Given the description of an element on the screen output the (x, y) to click on. 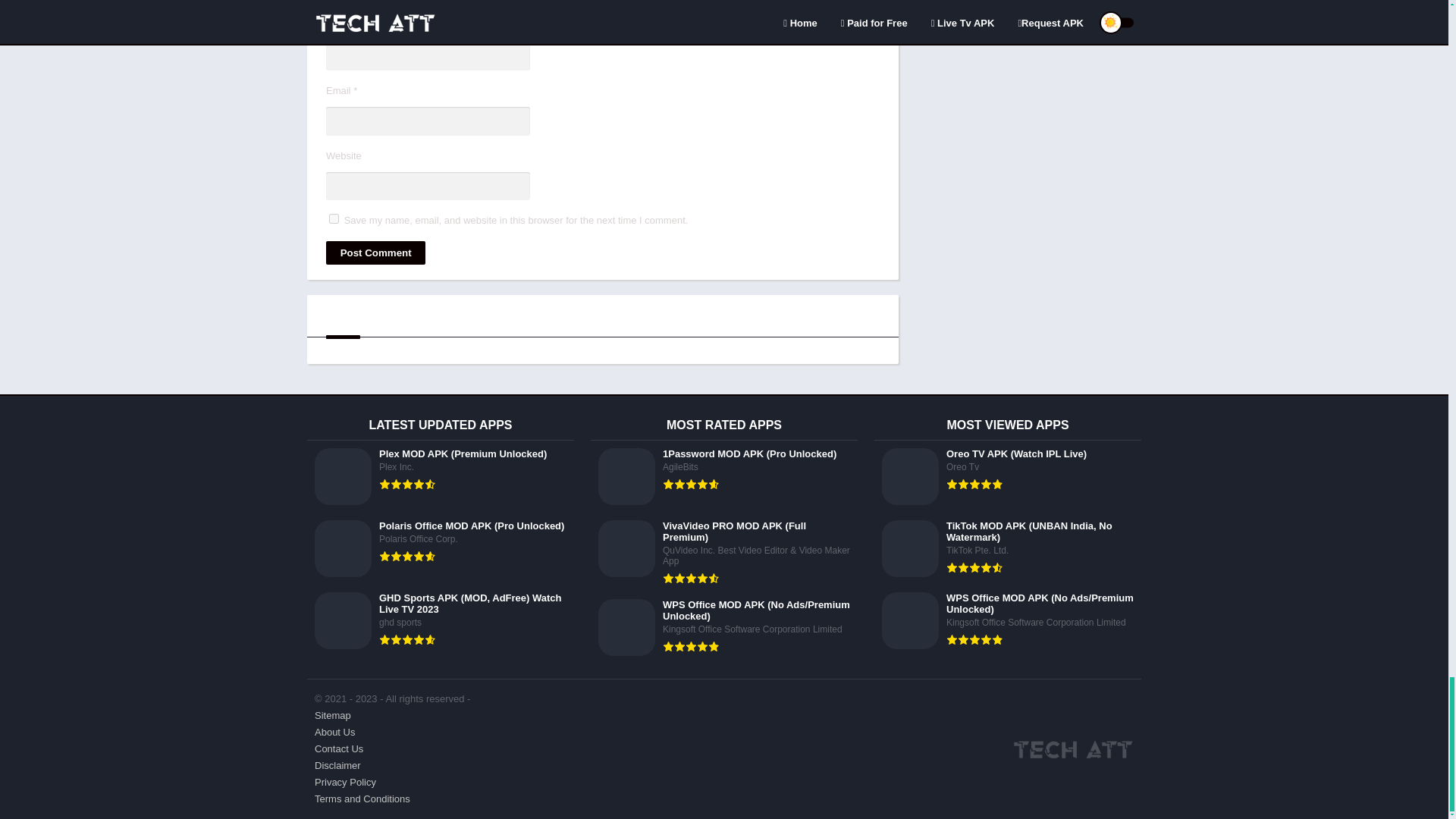
yes (334, 218)
Post Comment (375, 252)
